Given the description of an element on the screen output the (x, y) to click on. 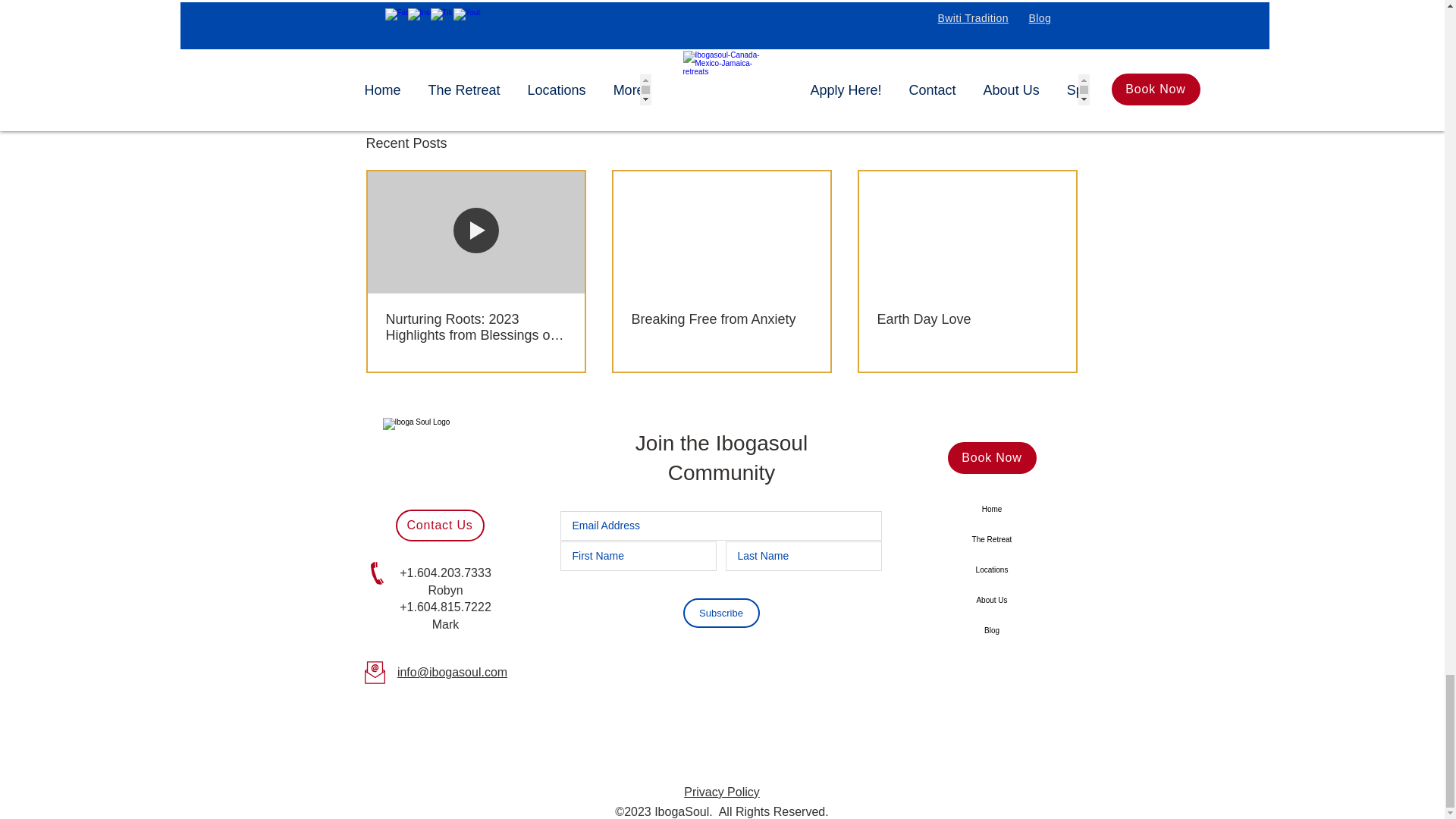
Breaking Free from Anxiety (720, 319)
Earth Day Love (966, 319)
